Given the description of an element on the screen output the (x, y) to click on. 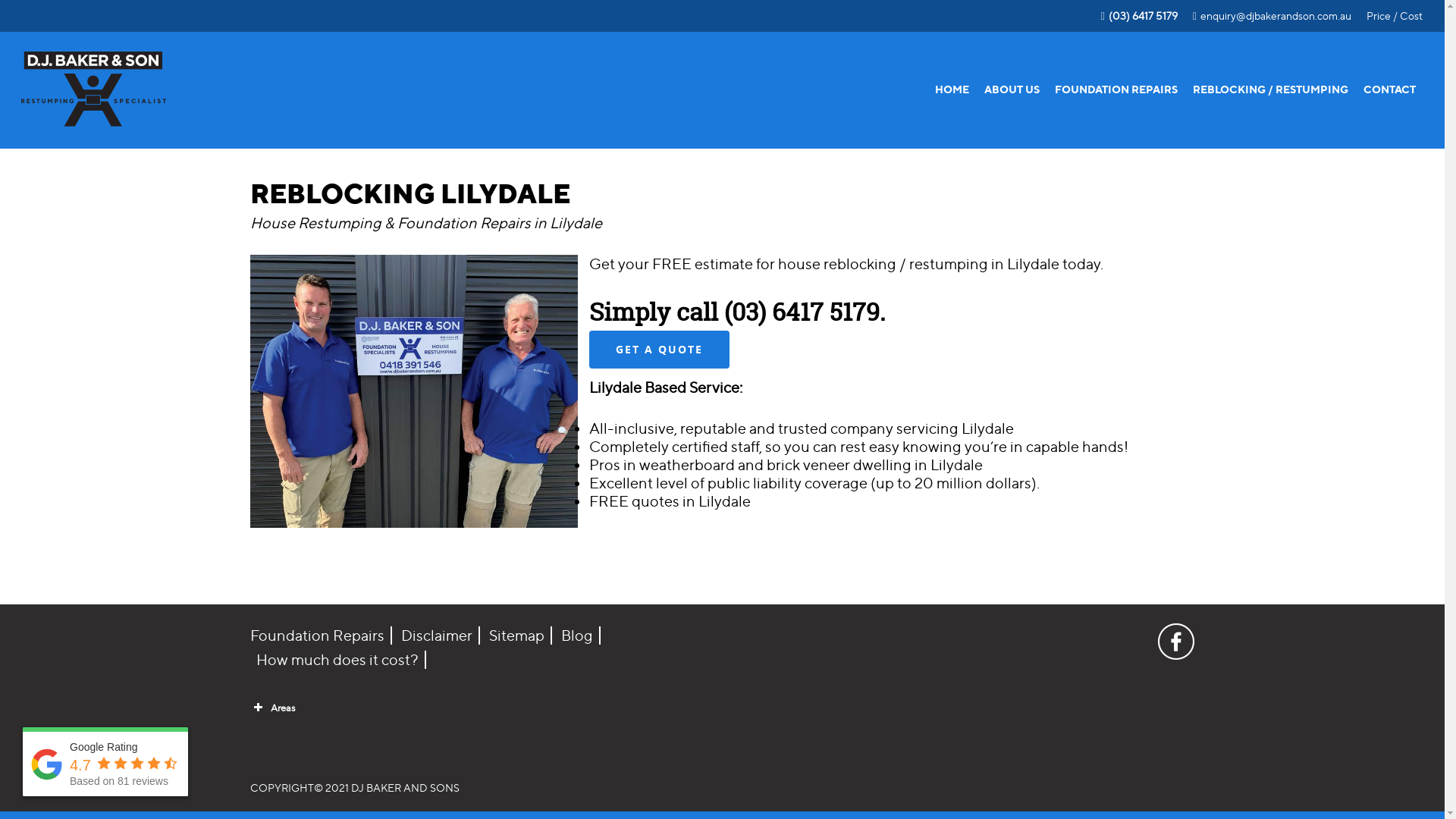
(03) 6417 5179 Element type: text (1139, 16)
Foundation Repairs Element type: text (321, 635)
Blog Element type: text (577, 635)
enquiry@djbakerandson.com.au Element type: text (1271, 16)
HOME Element type: text (952, 89)
ABOUT US Element type: text (1011, 89)
GET A QUOTE Element type: text (659, 349)
CONTACT Element type: text (1389, 89)
FOUNDATION REPAIRS Element type: text (1115, 89)
REBLOCKING / RESTUMPING Element type: text (1270, 89)
How much does it cost? Element type: text (338, 659)
Sitemap Element type: text (517, 635)
Price / Cost Element type: text (1394, 15)
Disclaimer Element type: text (437, 635)
